Given the description of an element on the screen output the (x, y) to click on. 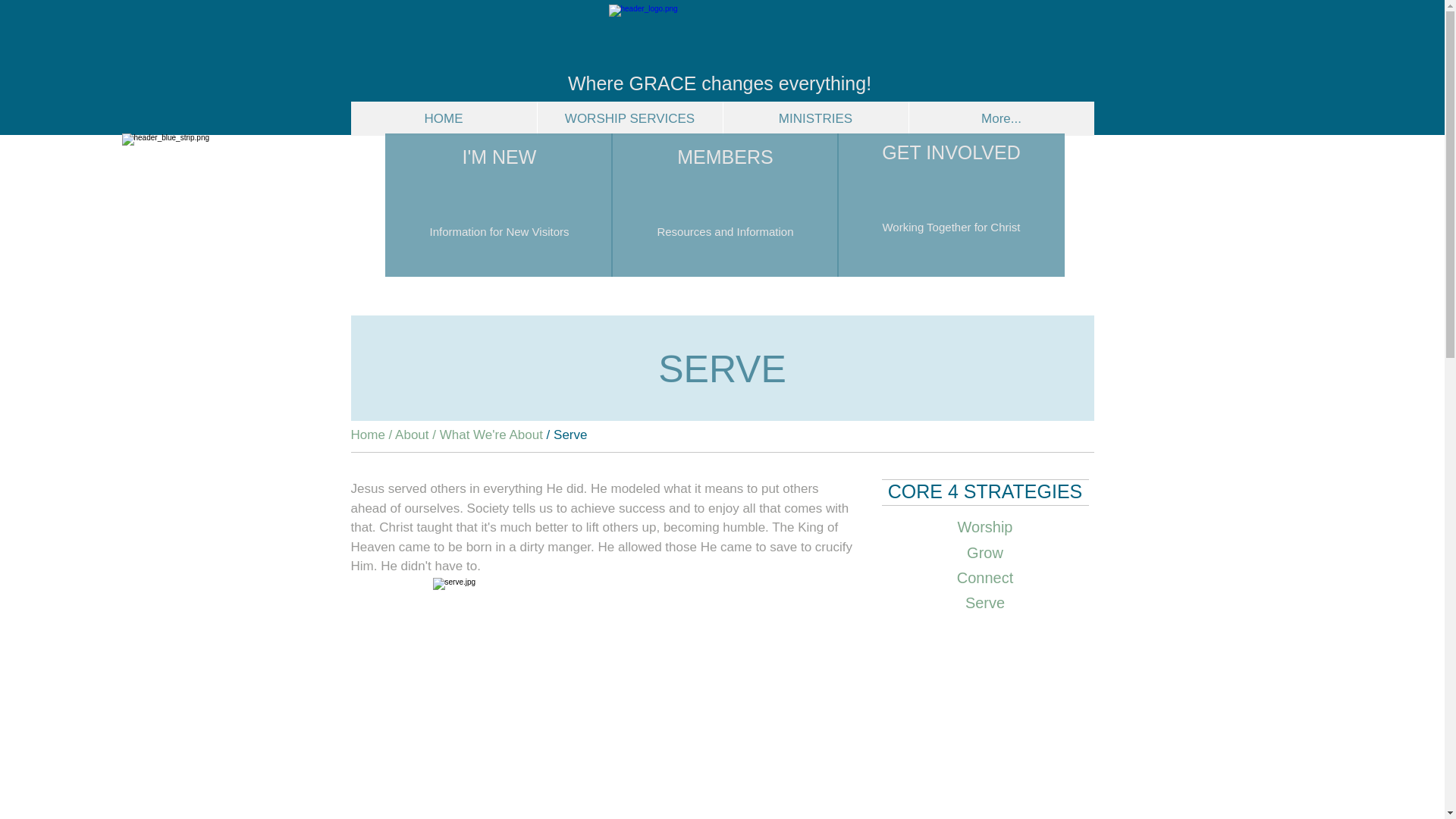
MINISTRIES (814, 118)
WORSHIP SERVICES (629, 118)
HOME (442, 118)
